Given the description of an element on the screen output the (x, y) to click on. 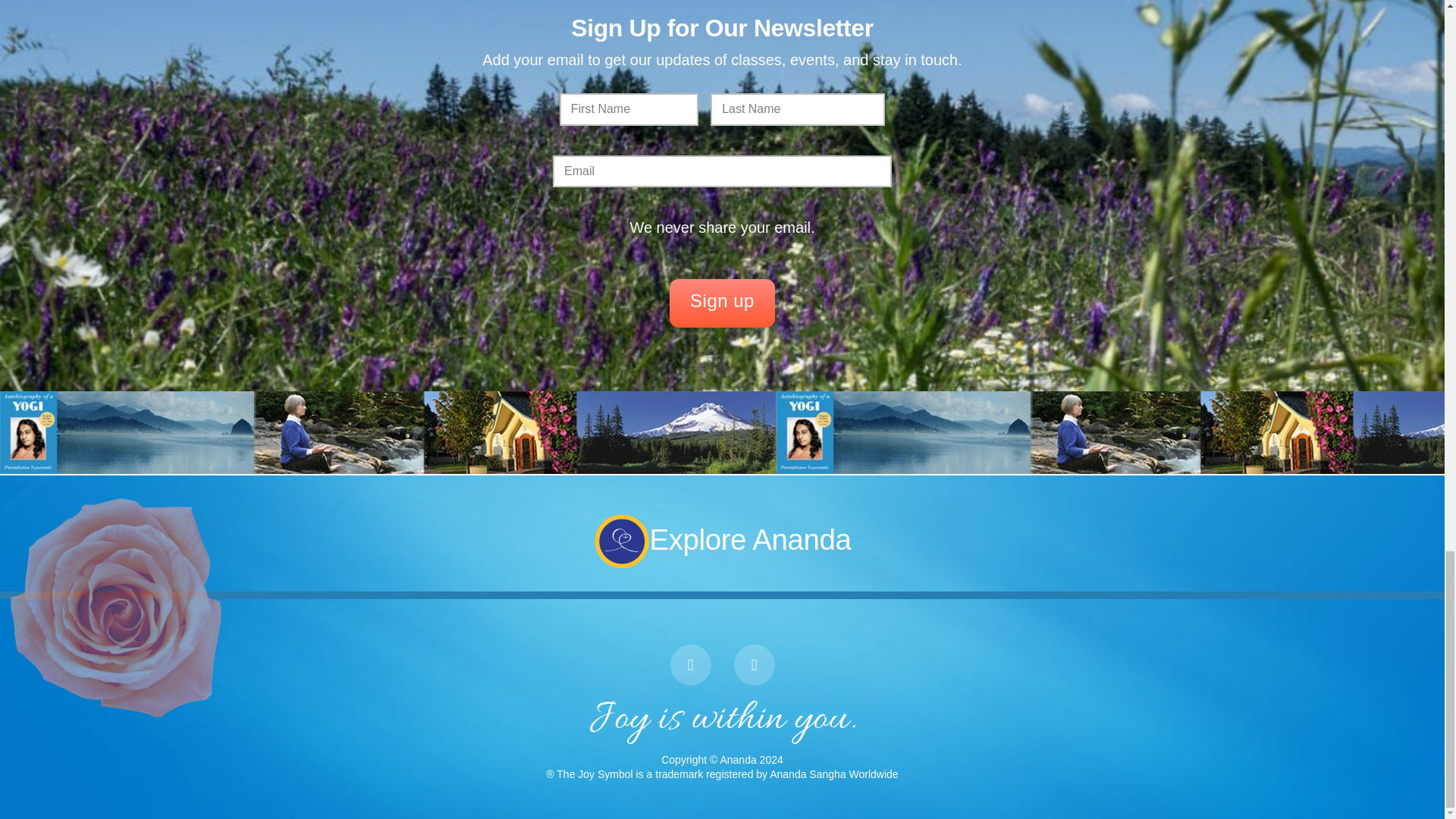
Sign up (721, 303)
Facebook (690, 664)
YouTube (753, 664)
